Given the description of an element on the screen output the (x, y) to click on. 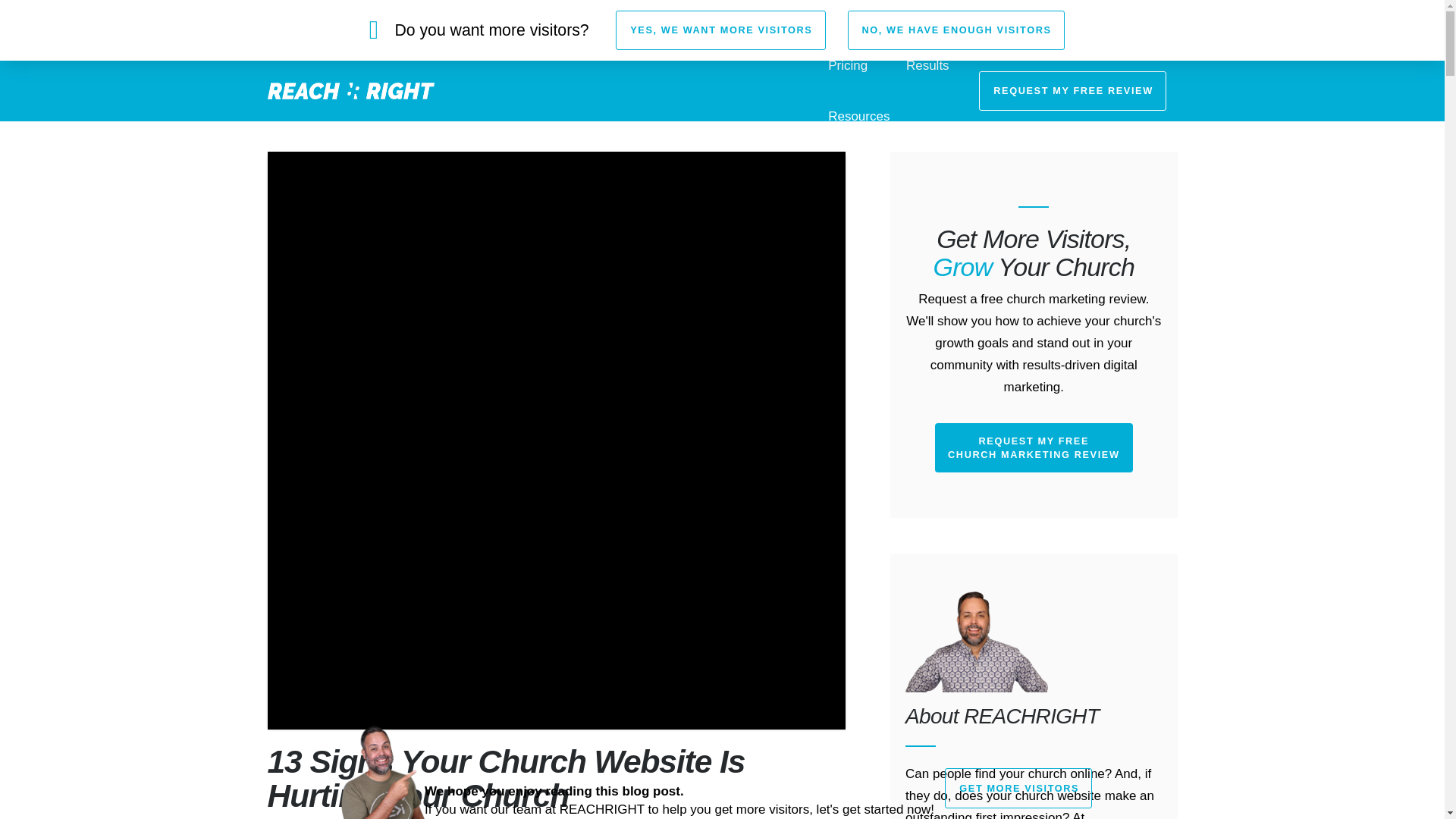
REQUEST MY FREE REVIEW (1072, 90)
Results (927, 65)
NO, WE HAVE ENOUGH VISITORS (955, 29)
YES, WE WANT MORE VISITORS (720, 29)
Pricing (847, 65)
